Given the description of an element on the screen output the (x, y) to click on. 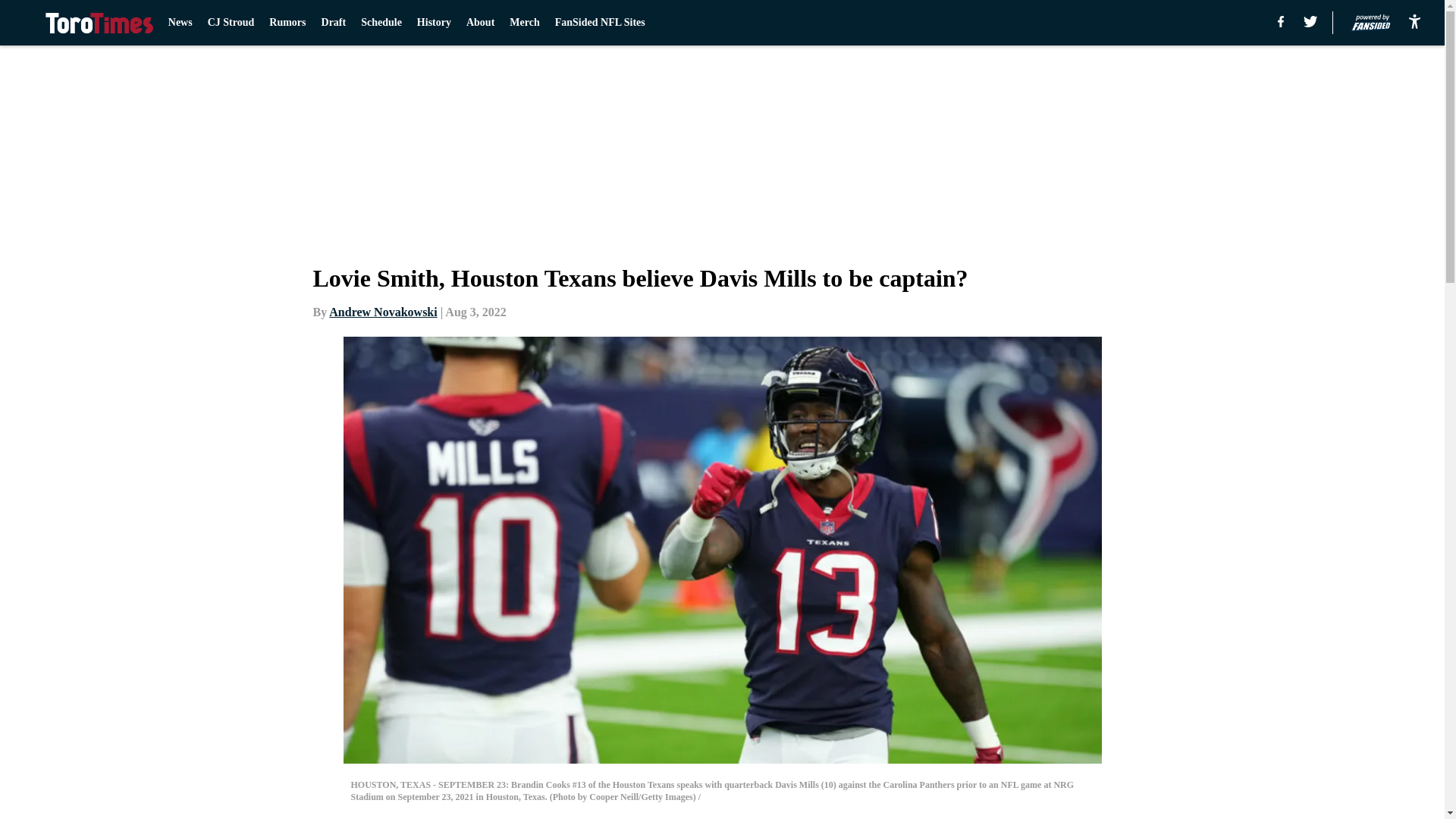
Schedule (381, 22)
CJ Stroud (231, 22)
Merch (523, 22)
History (433, 22)
FanSided NFL Sites (599, 22)
News (180, 22)
Andrew Novakowski (382, 311)
Rumors (287, 22)
Draft (333, 22)
About (480, 22)
